Given the description of an element on the screen output the (x, y) to click on. 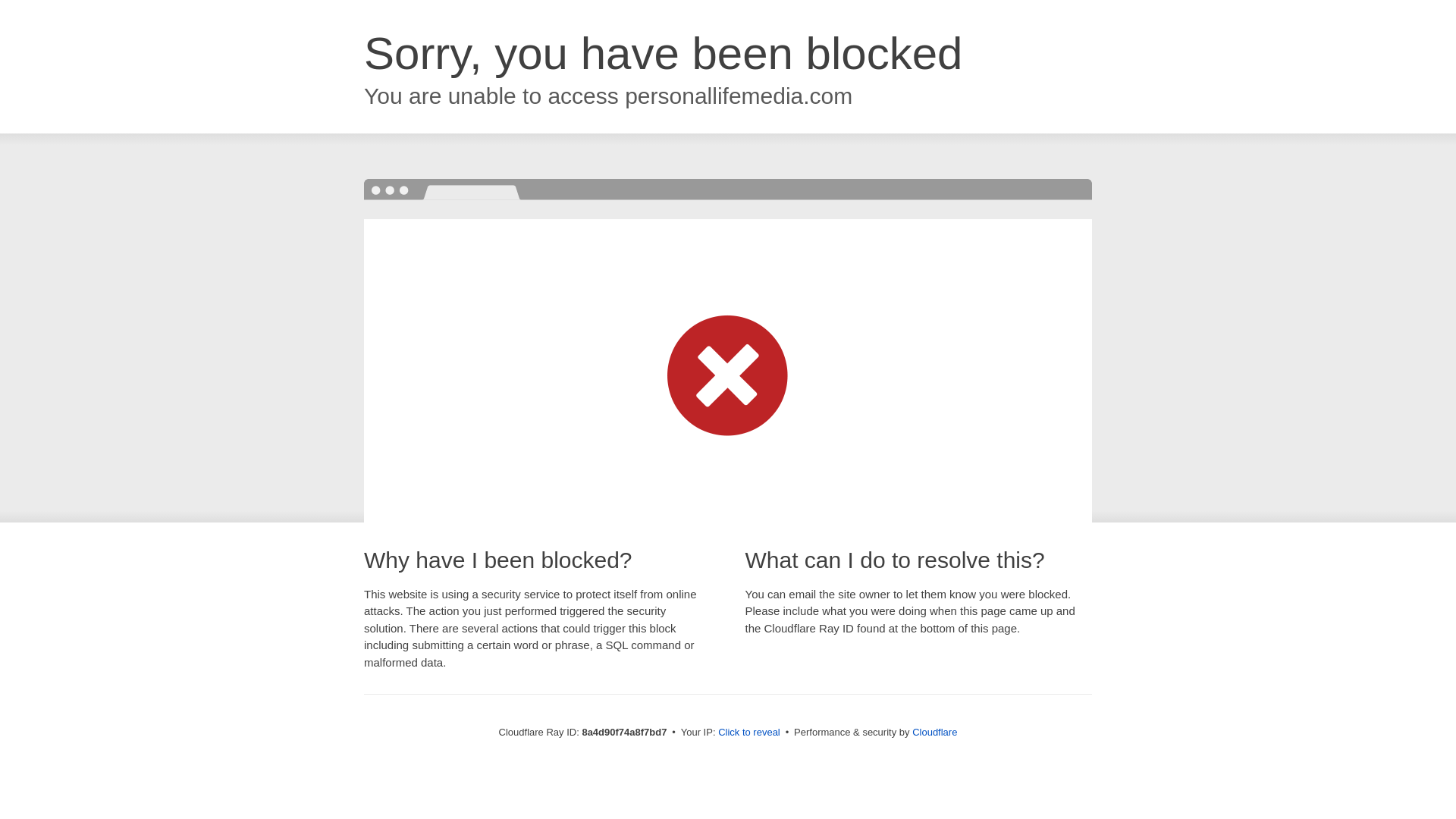
Click to reveal (748, 732)
Cloudflare (934, 731)
